Given the description of an element on the screen output the (x, y) to click on. 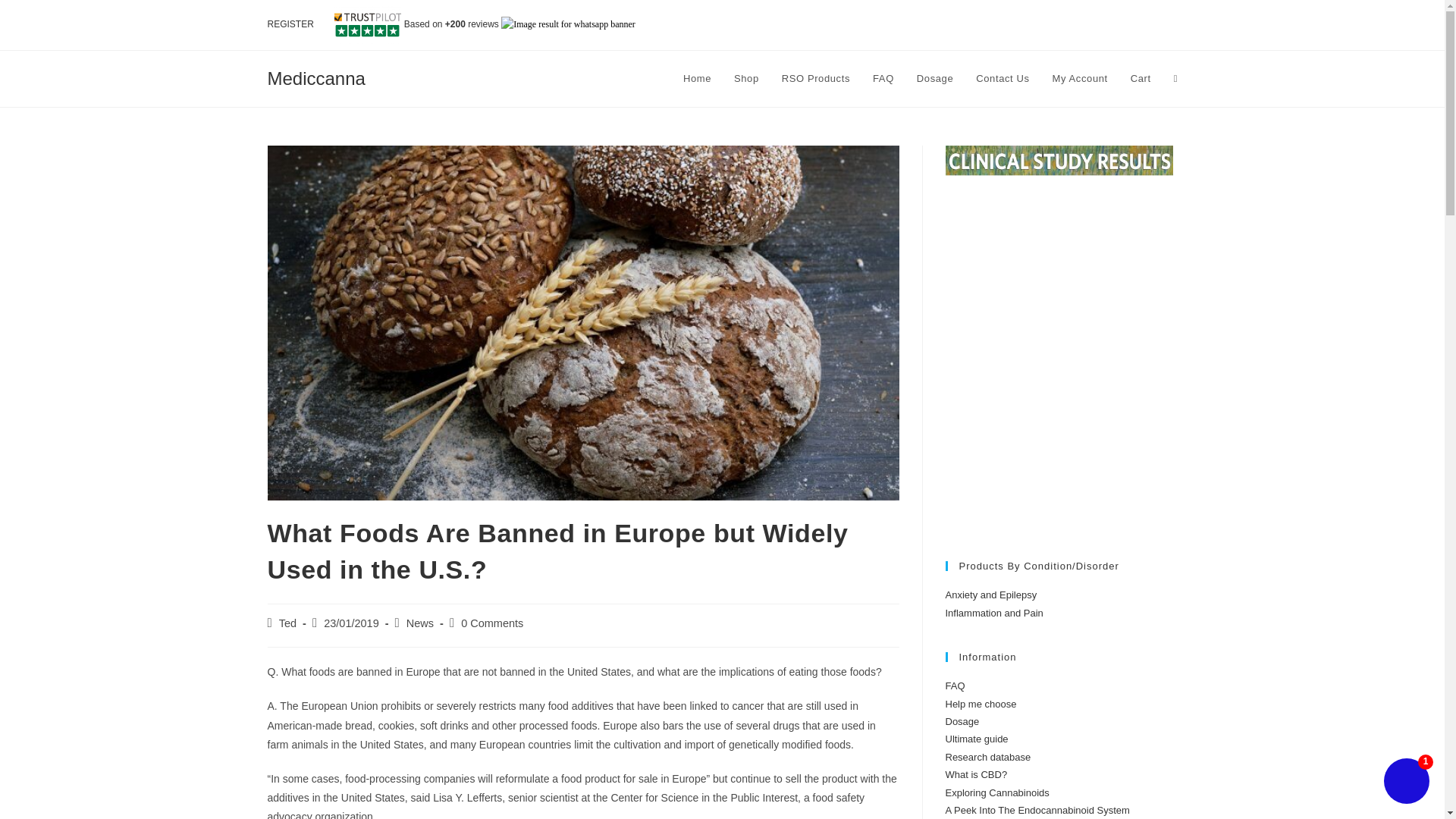
Home (696, 78)
REGISTER (289, 24)
RSO Products (815, 78)
Dosage (934, 78)
Posts by Ted (288, 623)
Ted (288, 623)
0 Comments (491, 623)
My Account (1080, 78)
News (419, 623)
Mediccanna (315, 77)
